Given the description of an element on the screen output the (x, y) to click on. 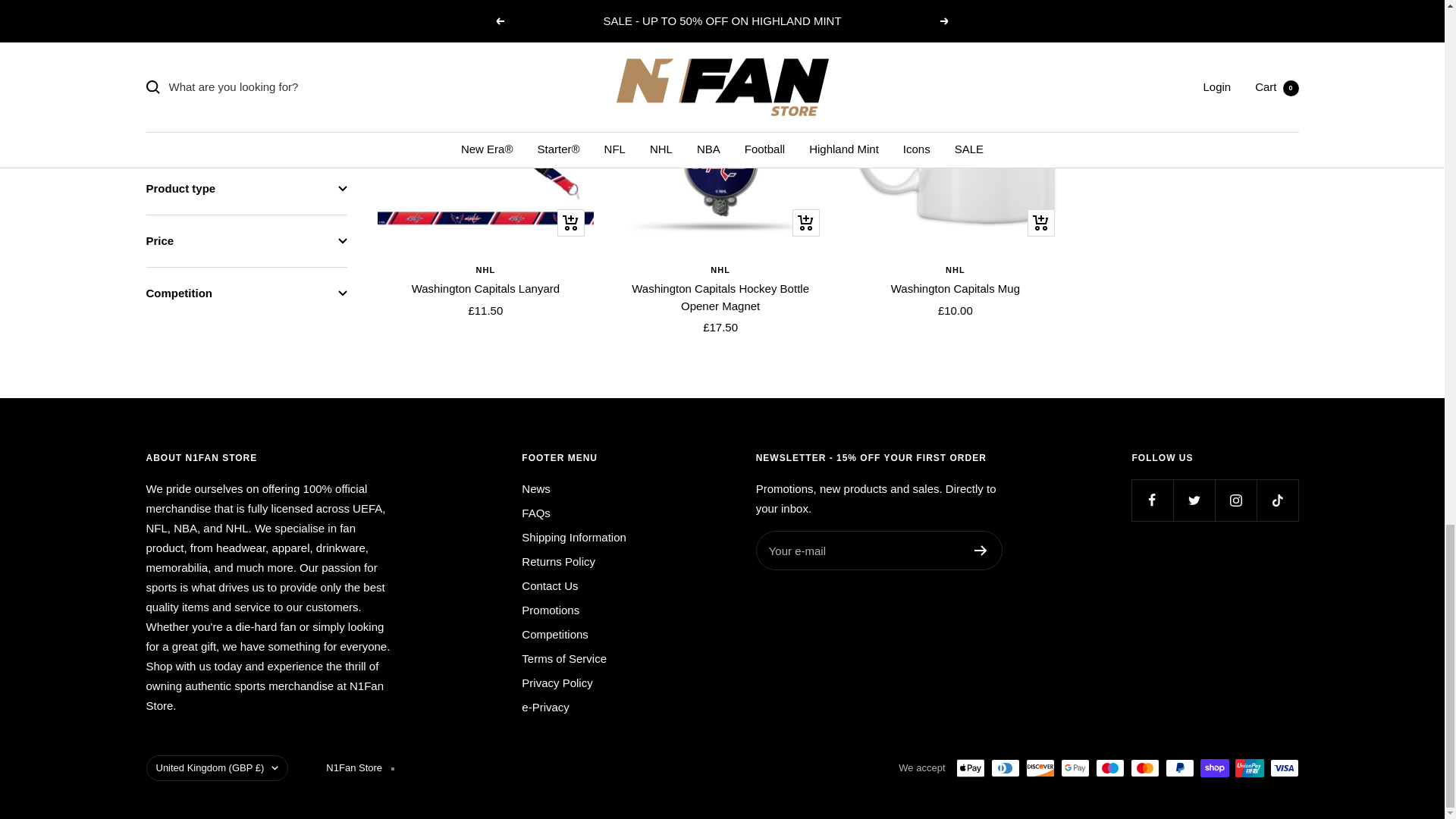
Register (980, 550)
